Given the description of an element on the screen output the (x, y) to click on. 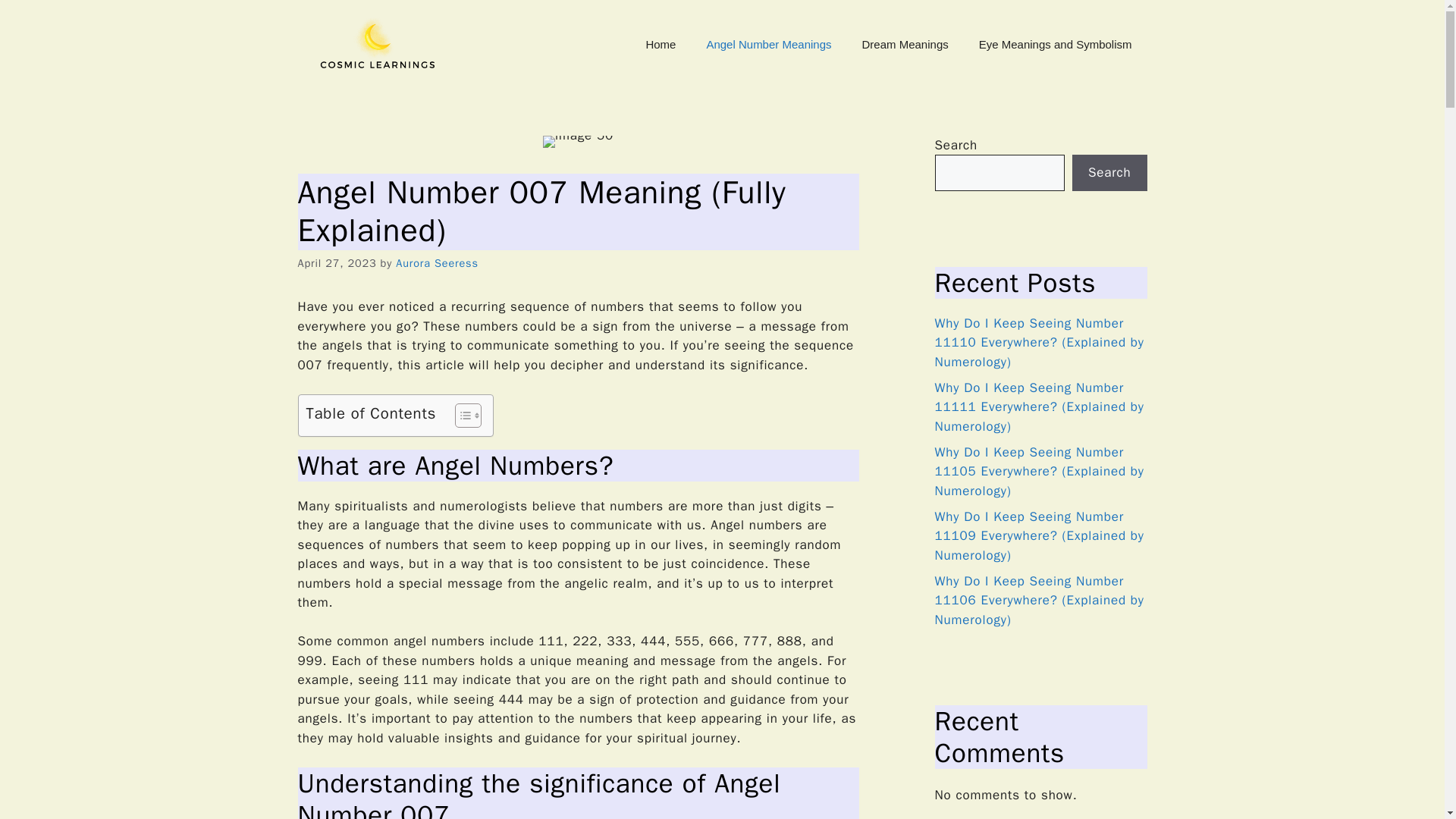
Angel Number Meanings (767, 44)
Aurora Seeress (437, 263)
Eye Meanings and Symbolism (1055, 44)
Home (660, 44)
View all posts by Aurora Seeress (437, 263)
Dream Meanings (905, 44)
